Given the description of an element on the screen output the (x, y) to click on. 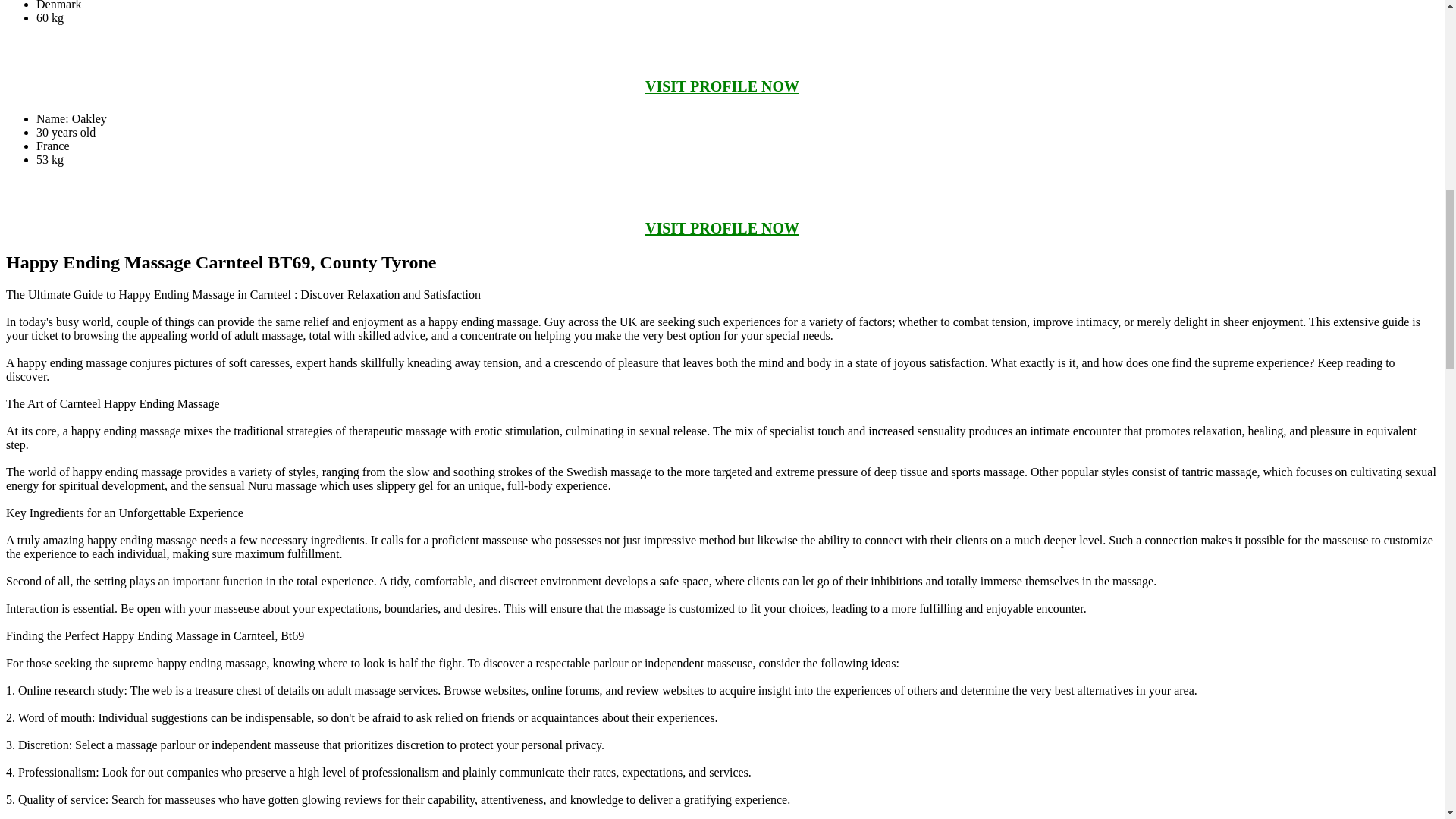
VISIT PROFILE NOW (722, 86)
VISIT PROFILE NOW (722, 228)
